Given the description of an element on the screen output the (x, y) to click on. 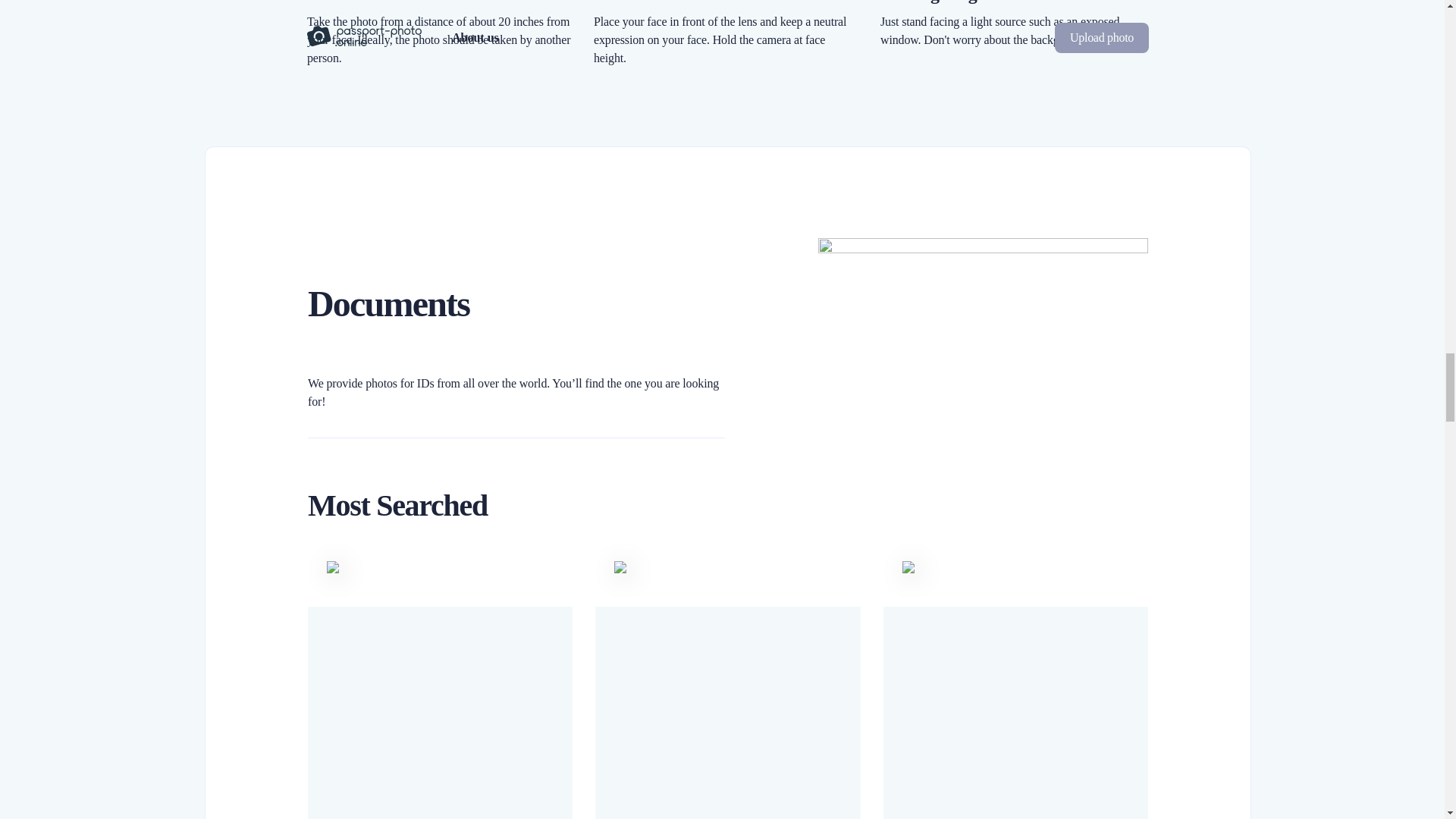
US Visa Photo (439, 744)
Passport Photo Maker (1015, 744)
Green Card Photo (727, 744)
